Given the description of an element on the screen output the (x, y) to click on. 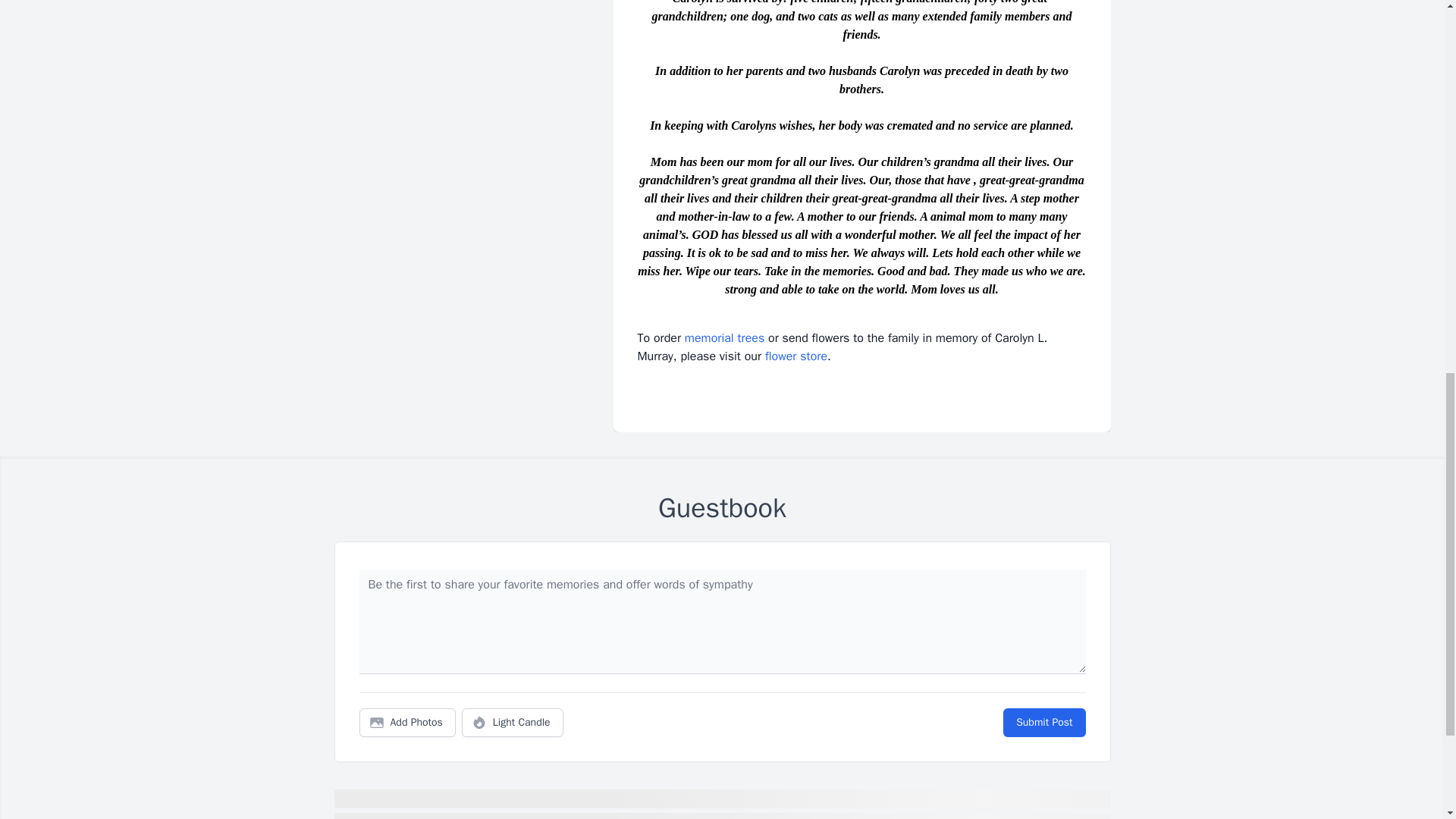
memorial trees (724, 337)
Submit Post (1043, 722)
flower store (796, 355)
Light Candle (512, 722)
Add Photos (407, 722)
